Given the description of an element on the screen output the (x, y) to click on. 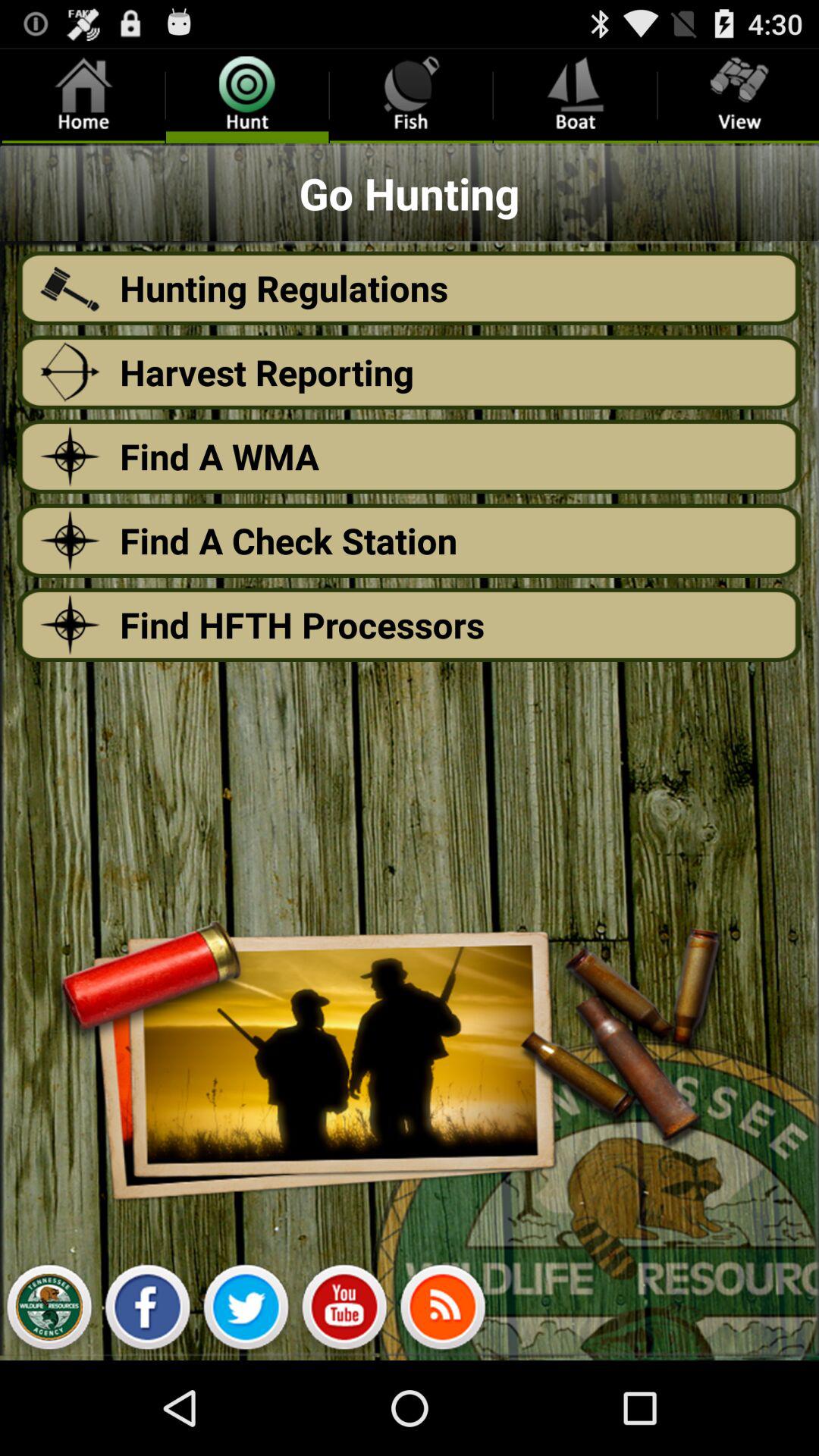
taggle the twiitter page (245, 1311)
